Given the description of an element on the screen output the (x, y) to click on. 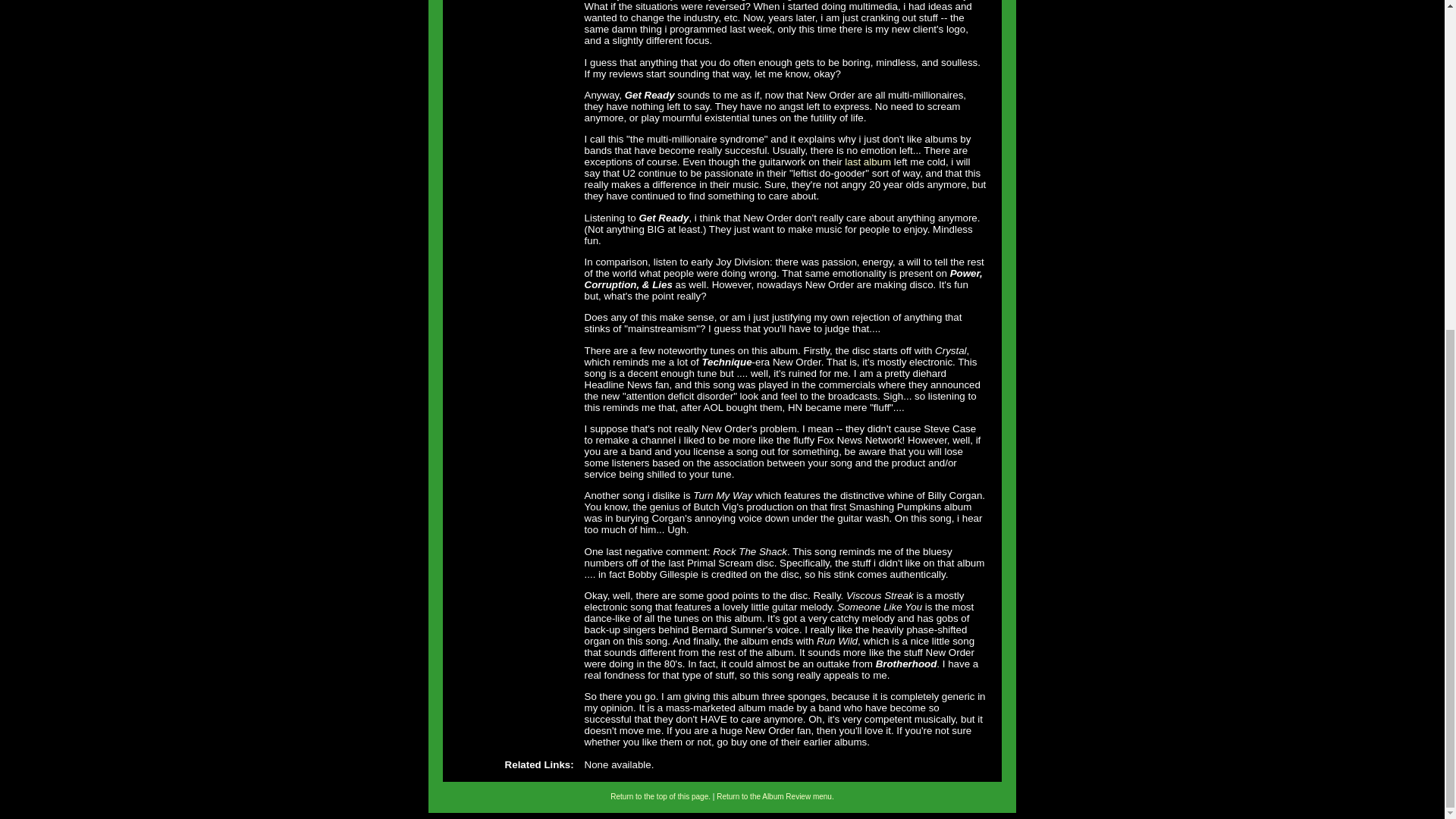
last album (867, 161)
Return to the top of this page. (660, 796)
Return to the Album Review menu. (775, 796)
